Given the description of an element on the screen output the (x, y) to click on. 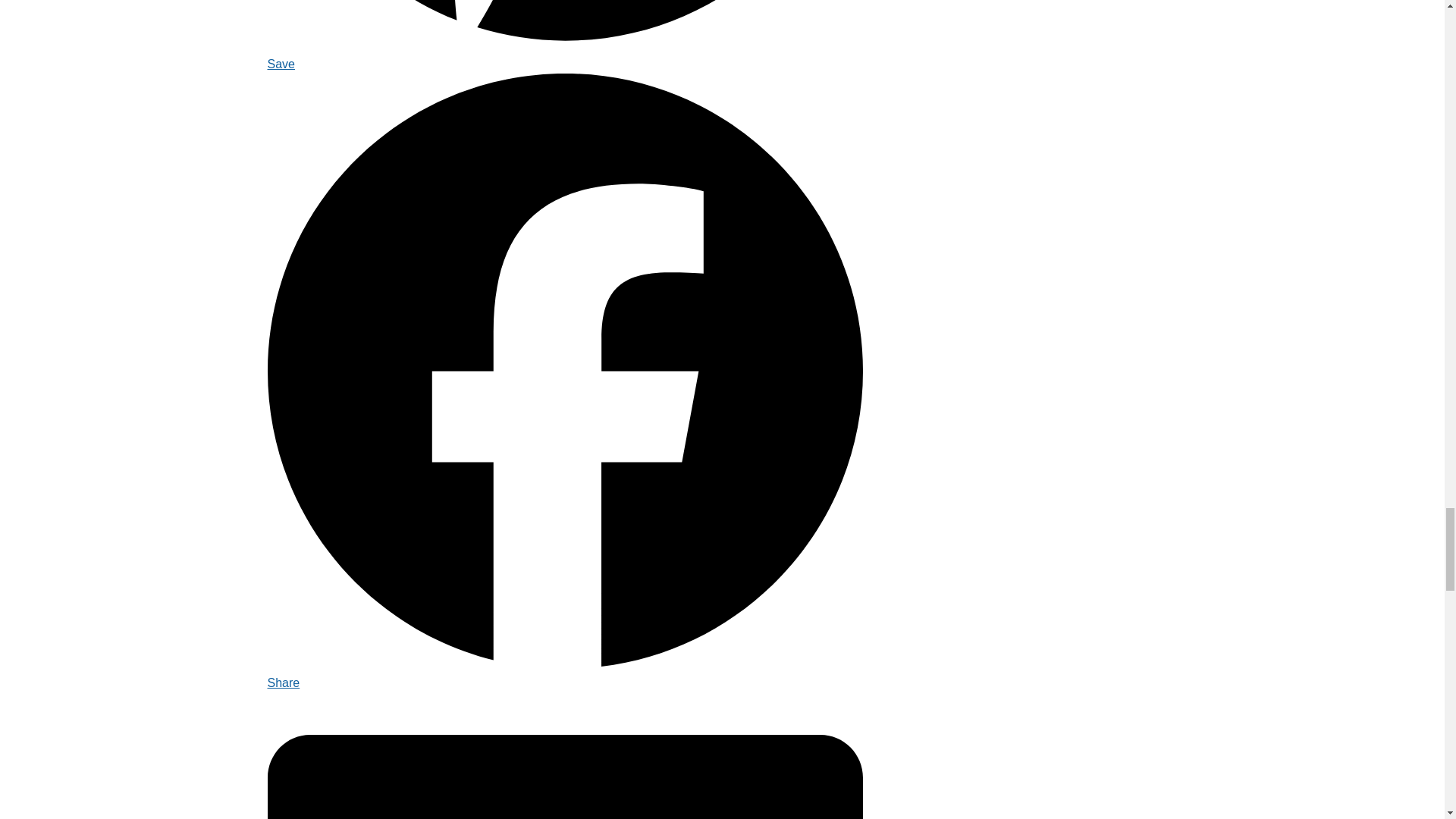
Save (563, 54)
Share (563, 673)
